Given the description of an element on the screen output the (x, y) to click on. 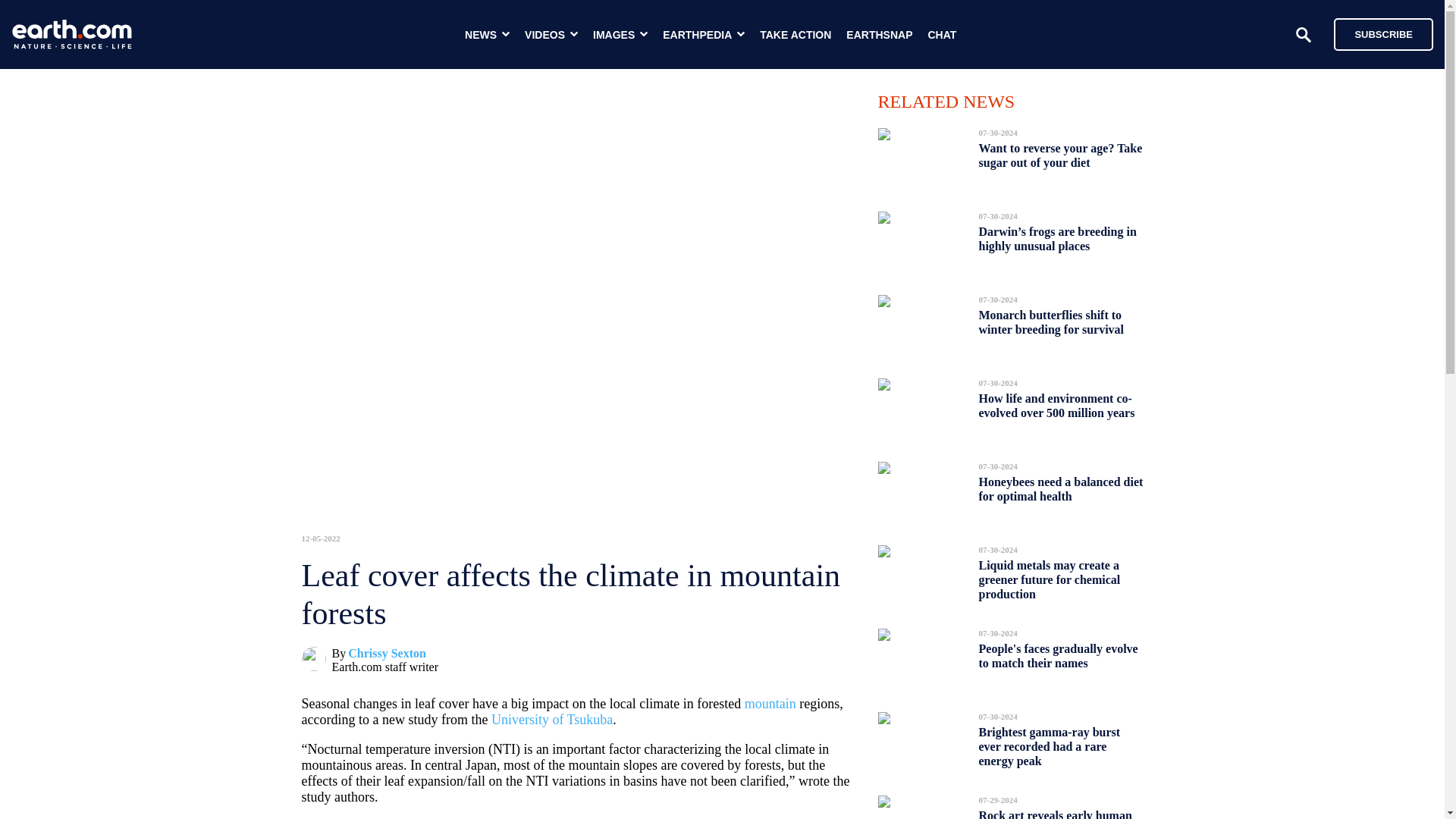
mountain (770, 703)
Want to reverse your age? Take sugar out of your diet  (1059, 155)
SUBSCRIBE (1382, 34)
CHAT (941, 34)
Honeybees need a balanced diet for optimal health (1060, 488)
TAKE ACTION (795, 34)
SUBSCRIBE (1375, 33)
Monarch butterflies shift to winter breeding for survival (1051, 322)
Chrissy Sexton (386, 653)
EARTHSNAP (878, 34)
University of Tsukuba (552, 719)
People's faces gradually evolve to match their names (1057, 655)
Rock art reveals early human ties with Amazon animals (1054, 810)
